Given the description of an element on the screen output the (x, y) to click on. 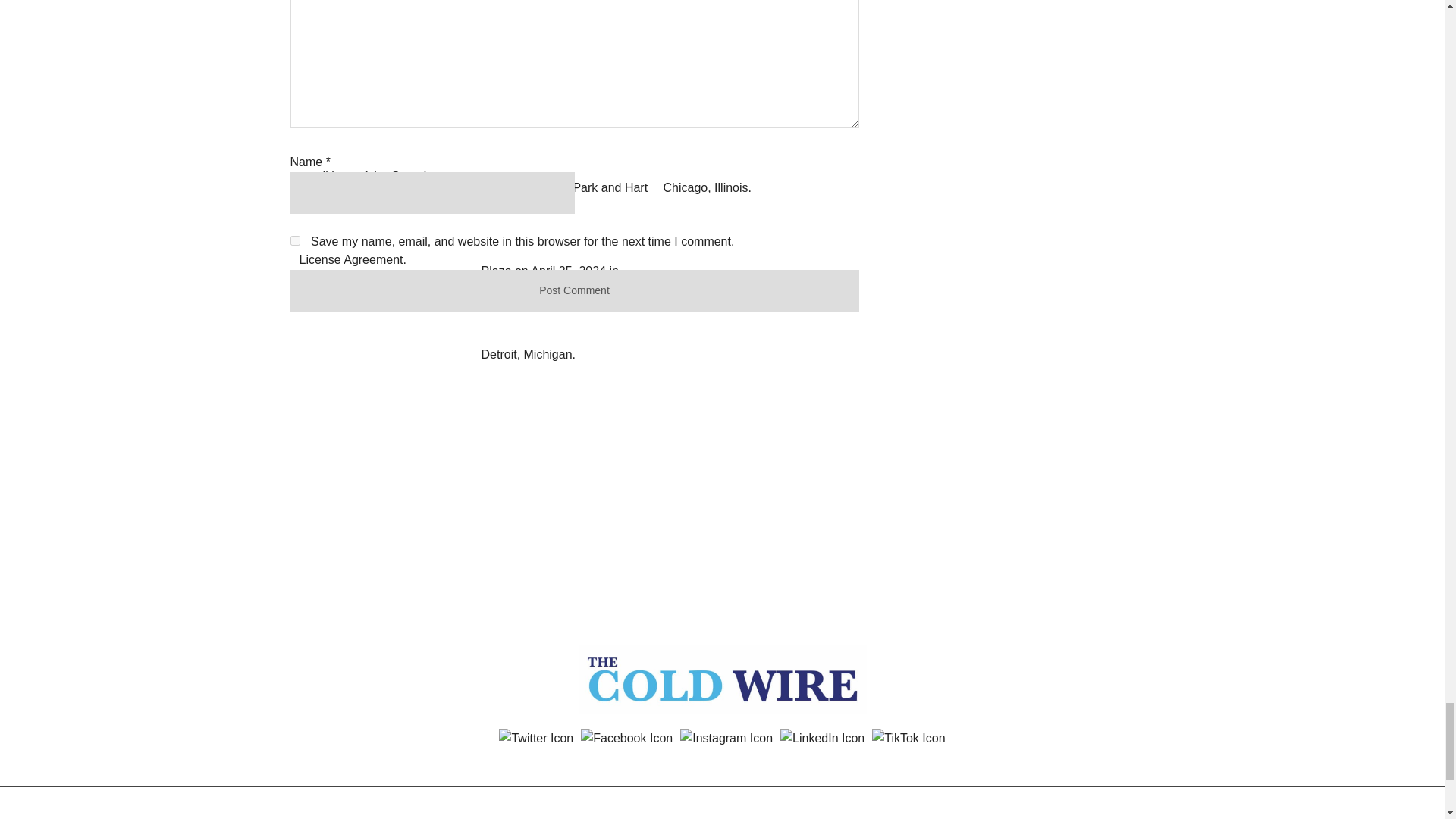
Post Comment (574, 291)
yes (294, 240)
